Given the description of an element on the screen output the (x, y) to click on. 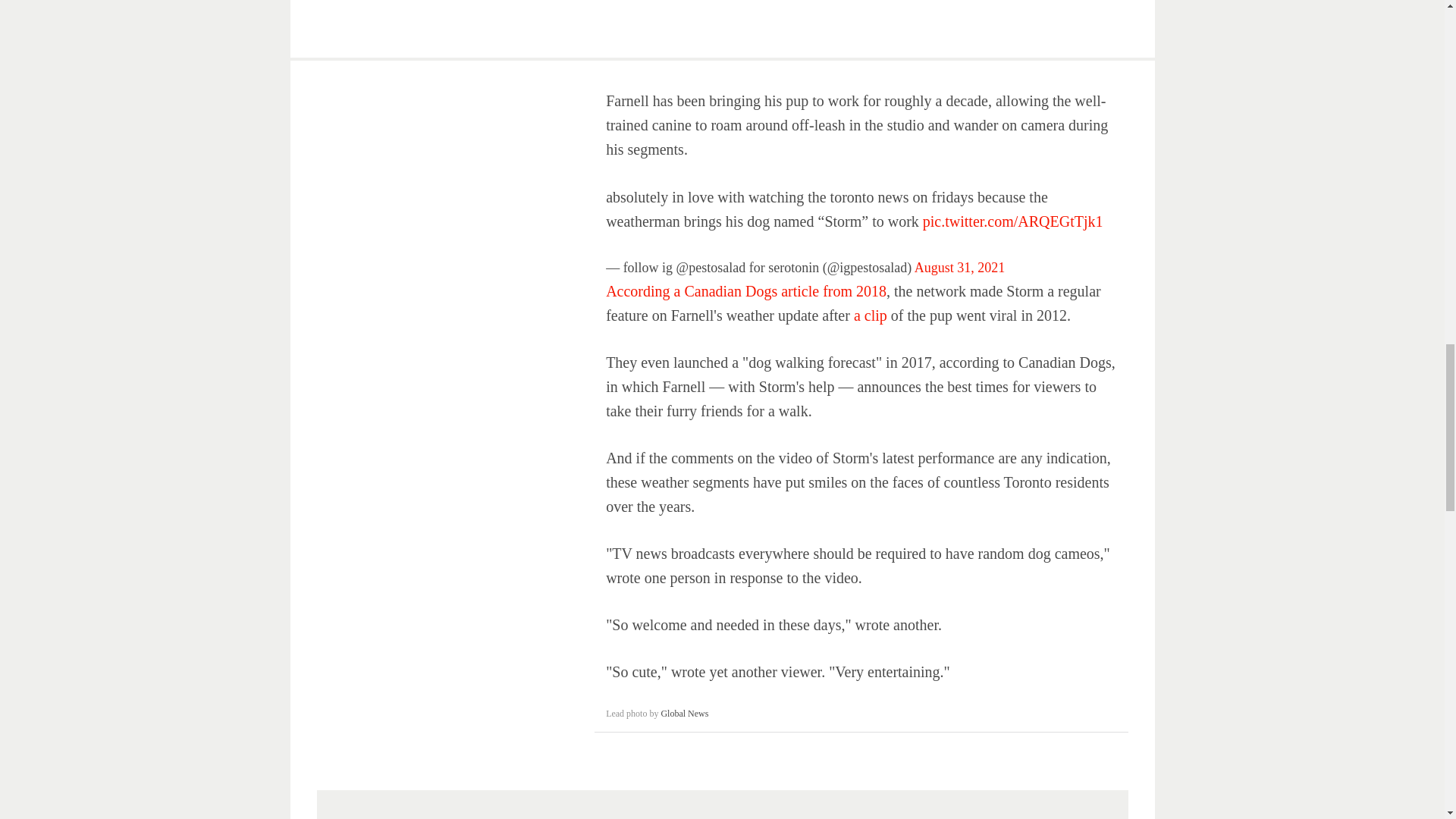
Global News (684, 713)
a clip (872, 315)
August 31, 2021 (960, 267)
According a Canadian Dogs article from 2018 (745, 290)
